Given the description of an element on the screen output the (x, y) to click on. 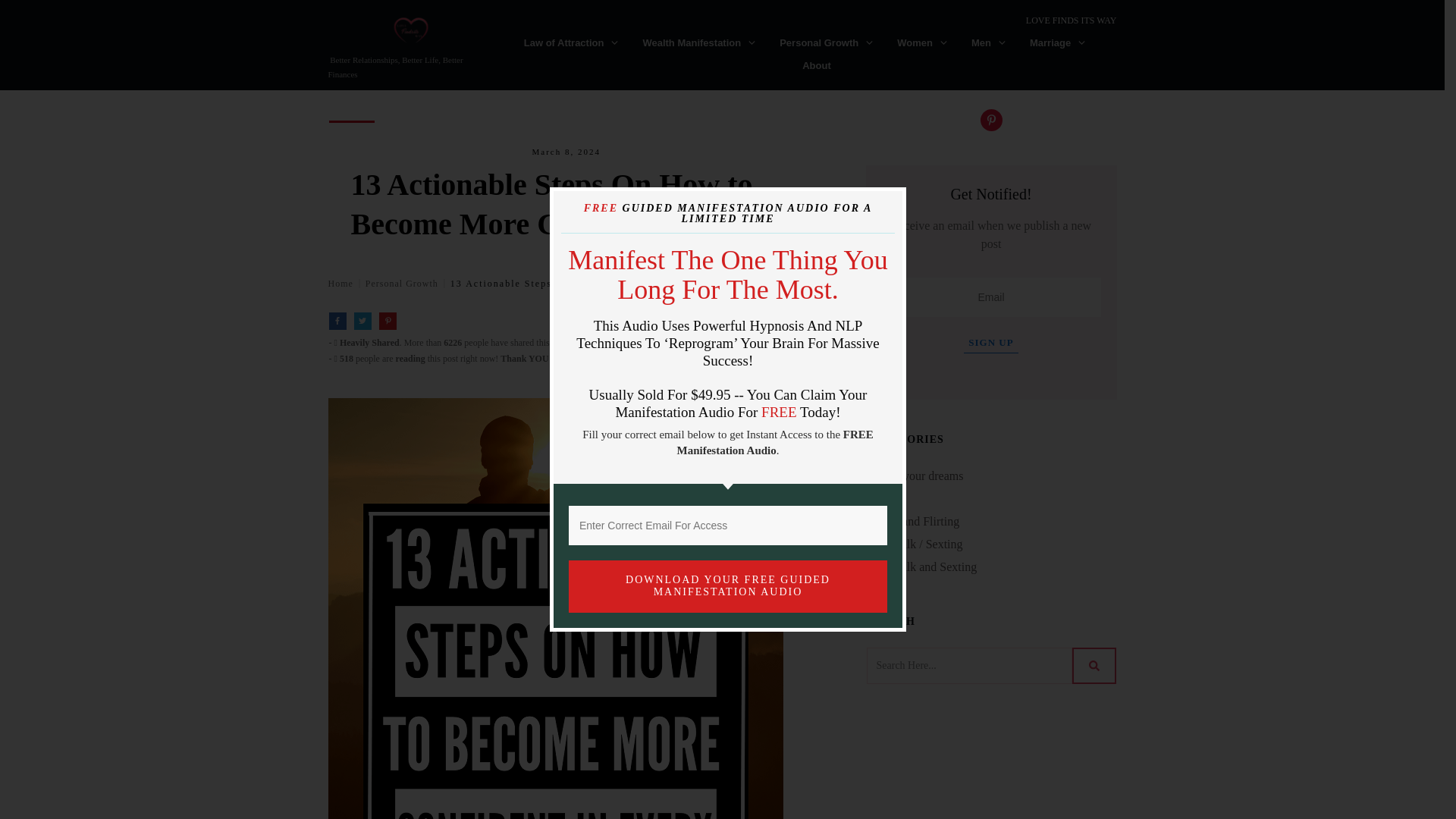
Law of Attraction (572, 43)
Men (989, 43)
Personal Growth (401, 283)
Marriage (1057, 43)
Personal Growth (826, 43)
Home (339, 283)
About (816, 66)
Wealth Manifestation (699, 43)
Women (922, 43)
